Given the description of an element on the screen output the (x, y) to click on. 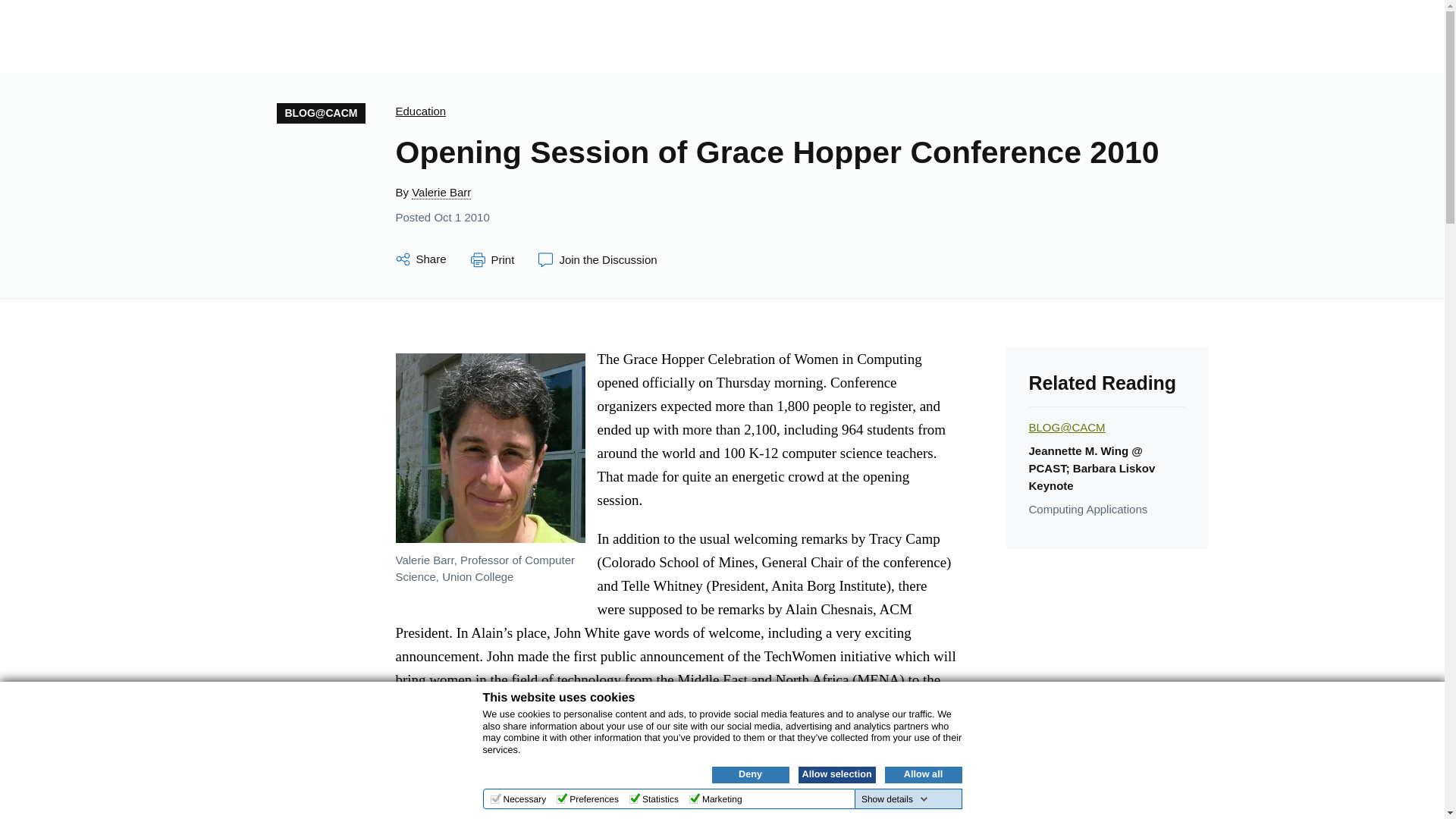
Allow all (921, 774)
Show details (895, 799)
Deny (750, 774)
Allow selection (836, 774)
